Given the description of an element on the screen output the (x, y) to click on. 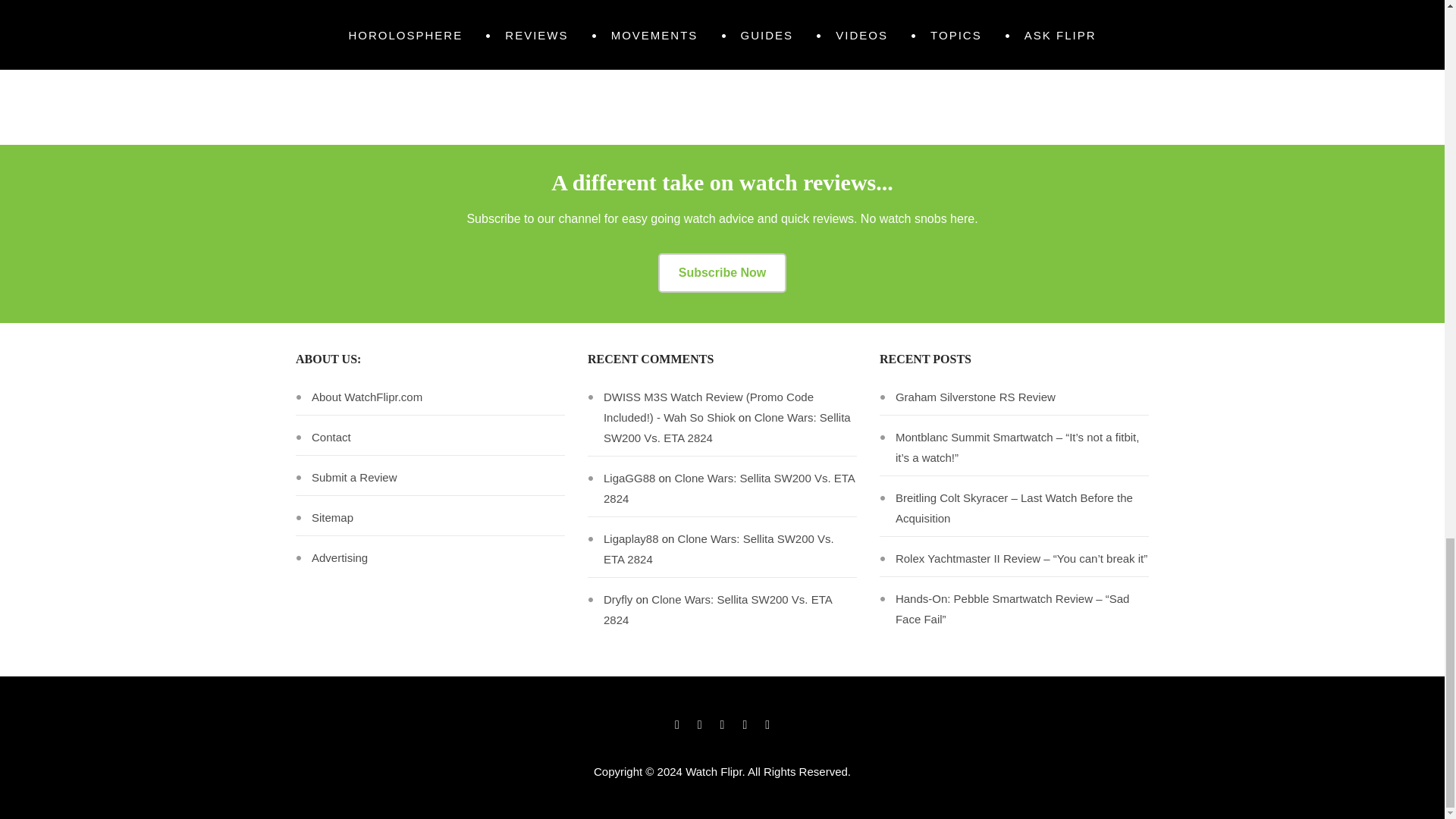
About WatchFlipr.com (366, 396)
Subscribe Now (722, 273)
Contact (330, 436)
